Given the description of an element on the screen output the (x, y) to click on. 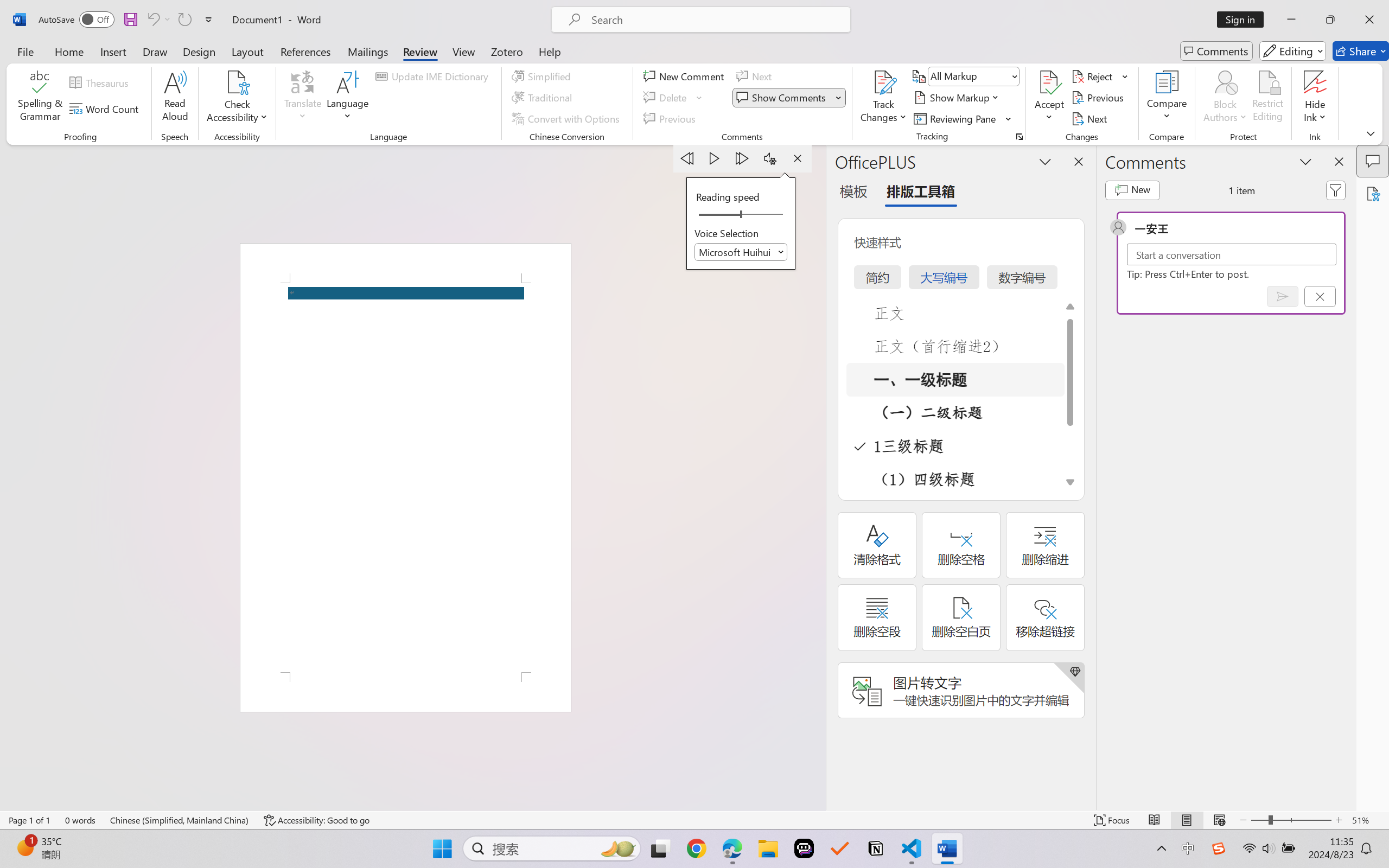
Page right (765, 214)
Language (347, 97)
Post comment (Ctrl + Enter) (1282, 296)
Reject and Move to Next (1093, 75)
Voice Selection (740, 252)
Compare (1166, 97)
Reviewing Pane (962, 118)
Start a conversation (1231, 254)
Convert with Options... (567, 118)
